Given the description of an element on the screen output the (x, y) to click on. 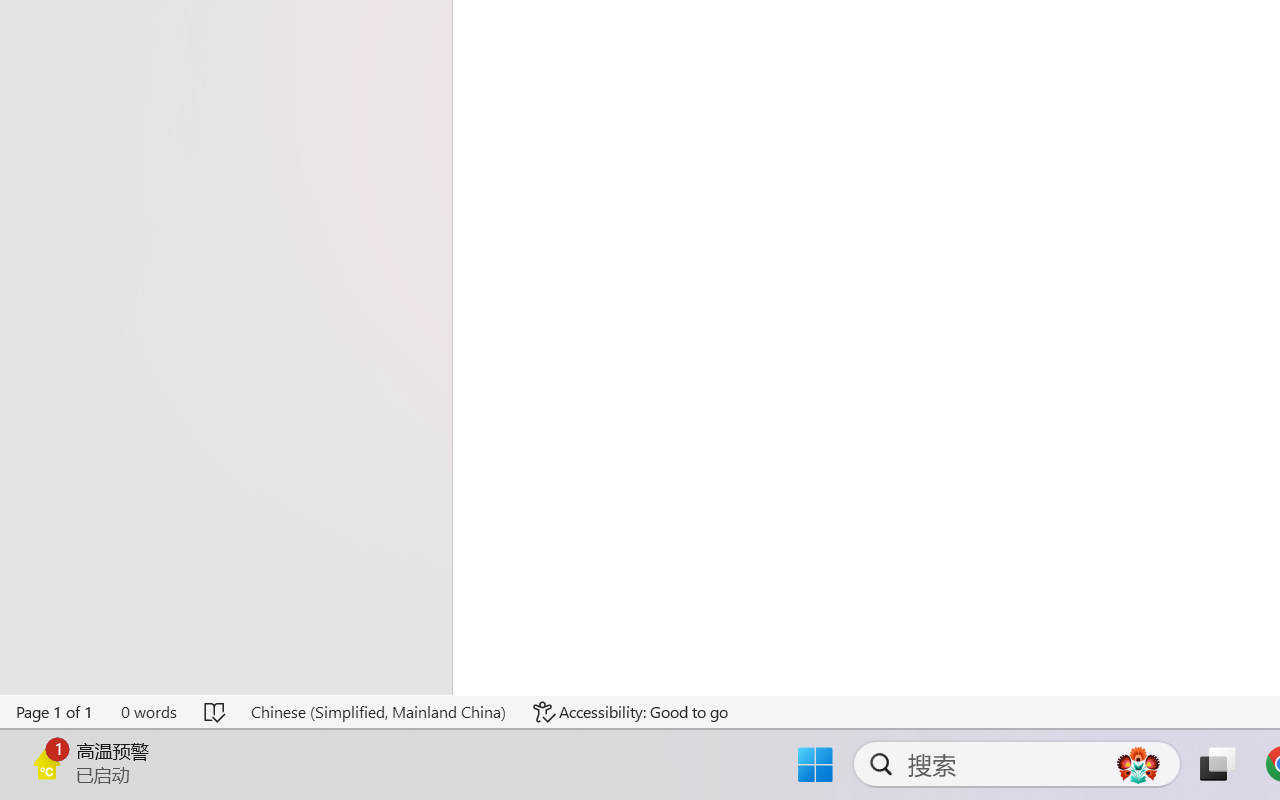
Language Chinese (Simplified, Mainland China) (378, 712)
